Given the description of an element on the screen output the (x, y) to click on. 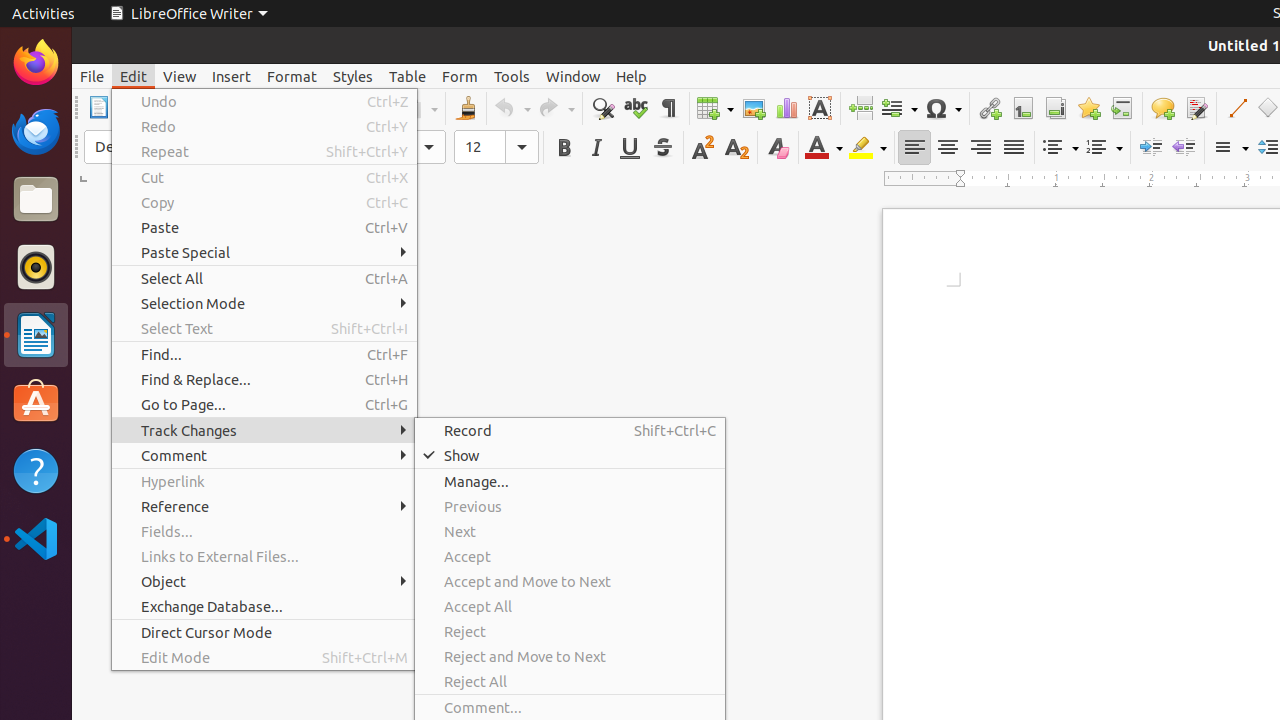
Accept and Move to Next Element type: menu-item (570, 581)
Form Element type: menu (460, 76)
Format Element type: menu (292, 76)
Table Element type: menu (407, 76)
Find & Replace Element type: toggle-button (602, 108)
